Given the description of an element on the screen output the (x, y) to click on. 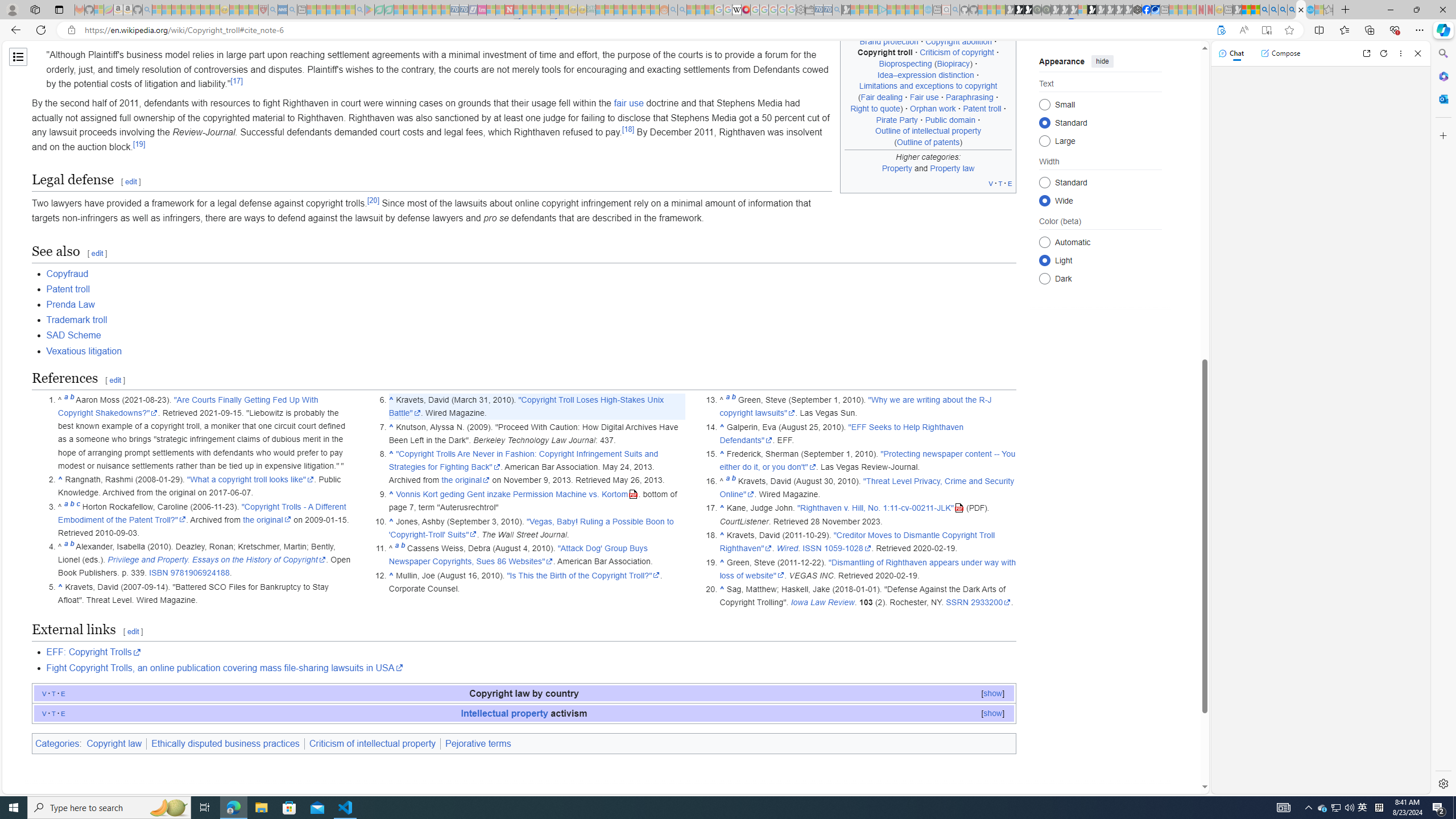
Wired (786, 548)
ISBN (158, 573)
Orphan work (933, 108)
Vonnis Kort geding Gent inzake Permission Machine vs. Kortom (517, 493)
Services - Maintenance | Sky Blue Bikes - Sky Blue Bikes (1309, 9)
"Creditor Moves to Dismantle Copyright Troll Righthaven" (857, 541)
t (52, 712)
Google Chrome Internet Browser Download - Search Images (1291, 9)
